Given the description of an element on the screen output the (x, y) to click on. 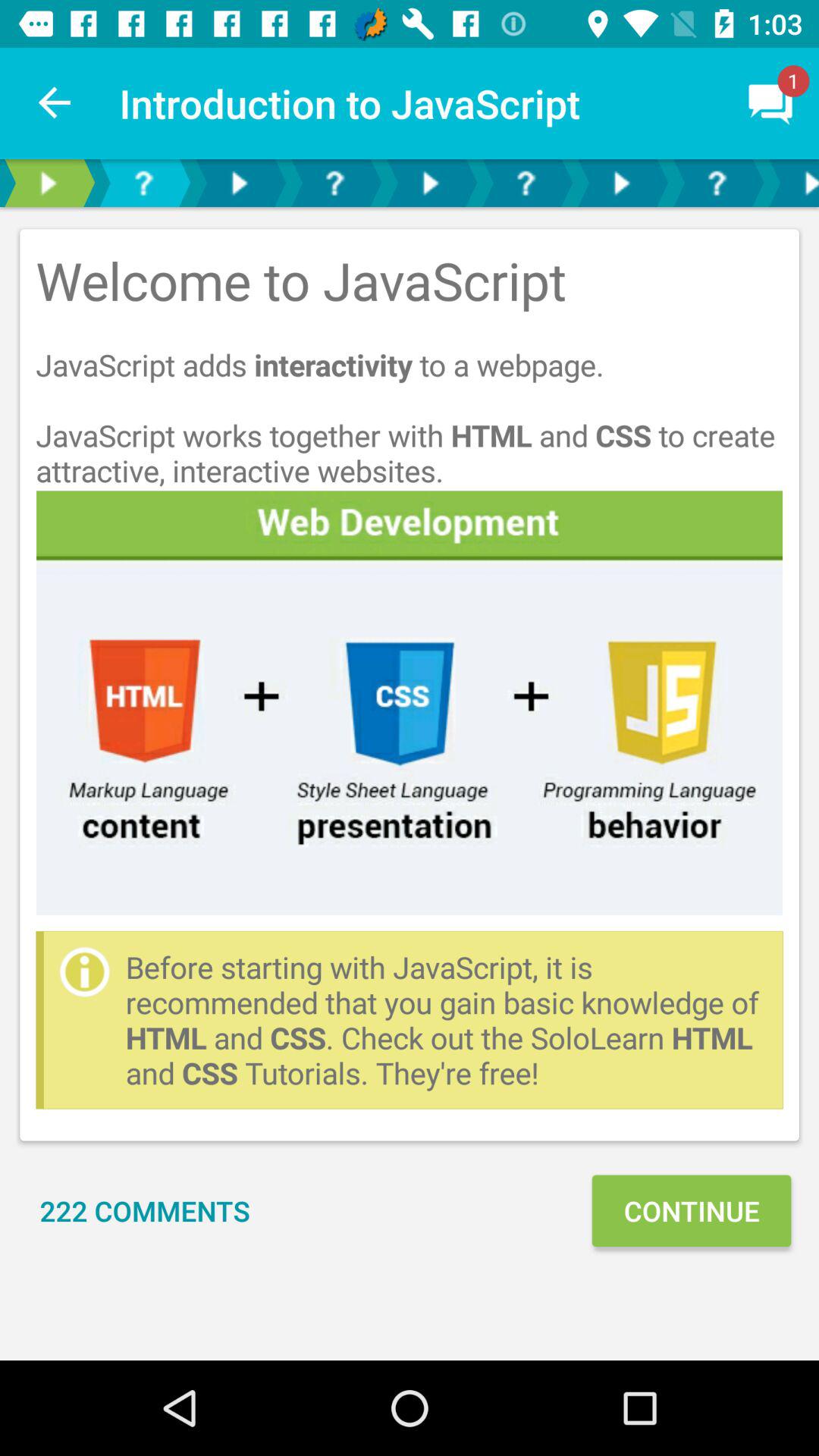
next page (238, 183)
